Given the description of an element on the screen output the (x, y) to click on. 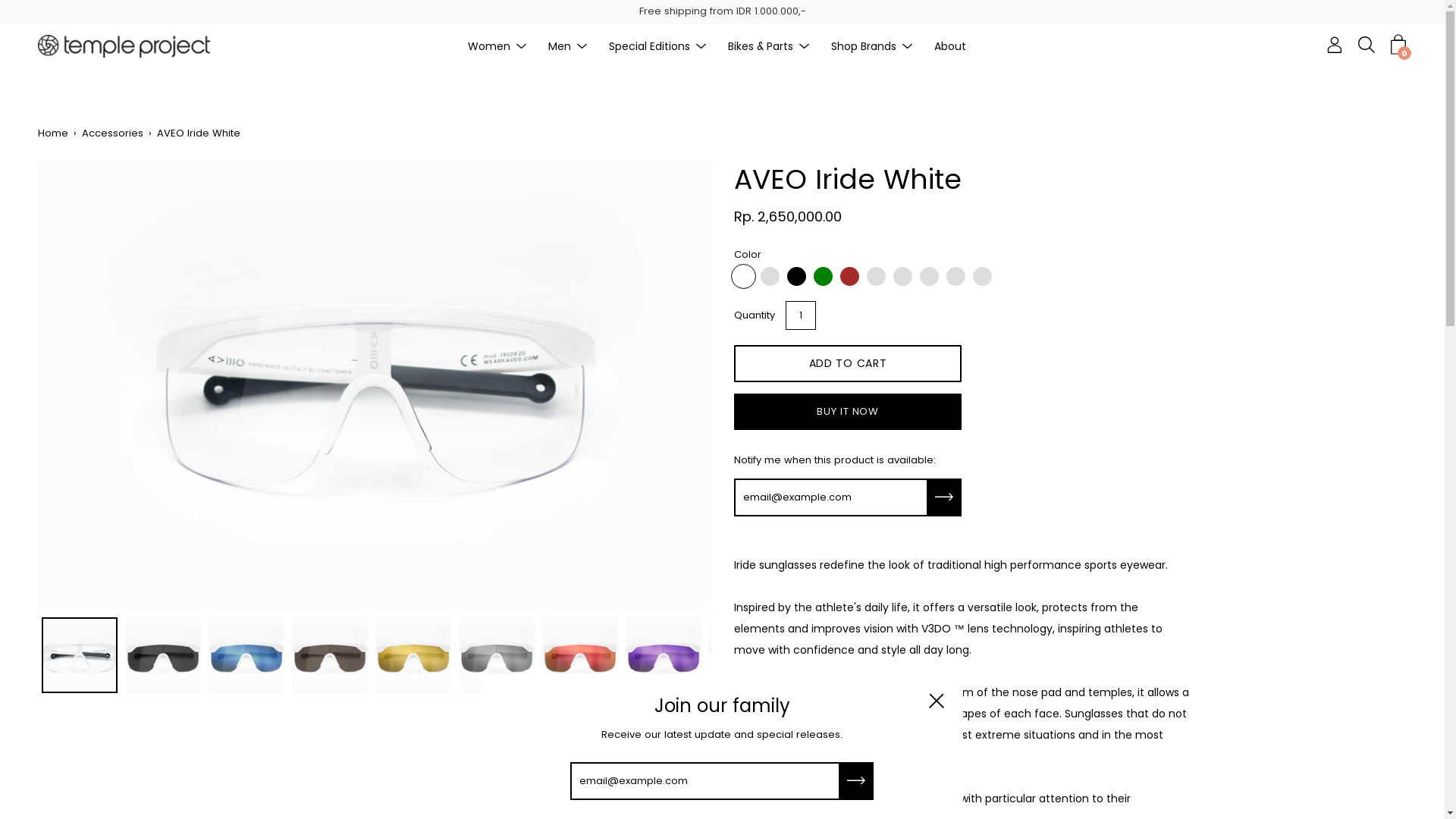
Accessories Element type: text (114, 133)
Special Editions Element type: text (648, 45)
About Element type: text (950, 45)
Bikes & Parts Element type: text (760, 45)
Show submenu Element type: text (520, 45)
BUY IT NOW Element type: text (847, 411)
Submit Element type: text (944, 497)
Show submenu Element type: text (907, 45)
Shop Brands Element type: text (863, 45)
Home Element type: text (55, 133)
Men Element type: text (558, 45)
Show submenu Element type: text (804, 45)
Show submenu Element type: text (701, 45)
ADD TO CART Element type: text (847, 363)
Open search bar Element type: text (1366, 44)
0 Element type: text (1398, 44)
Women Element type: text (488, 45)
Show submenu Element type: text (581, 45)
